Given the description of an element on the screen output the (x, y) to click on. 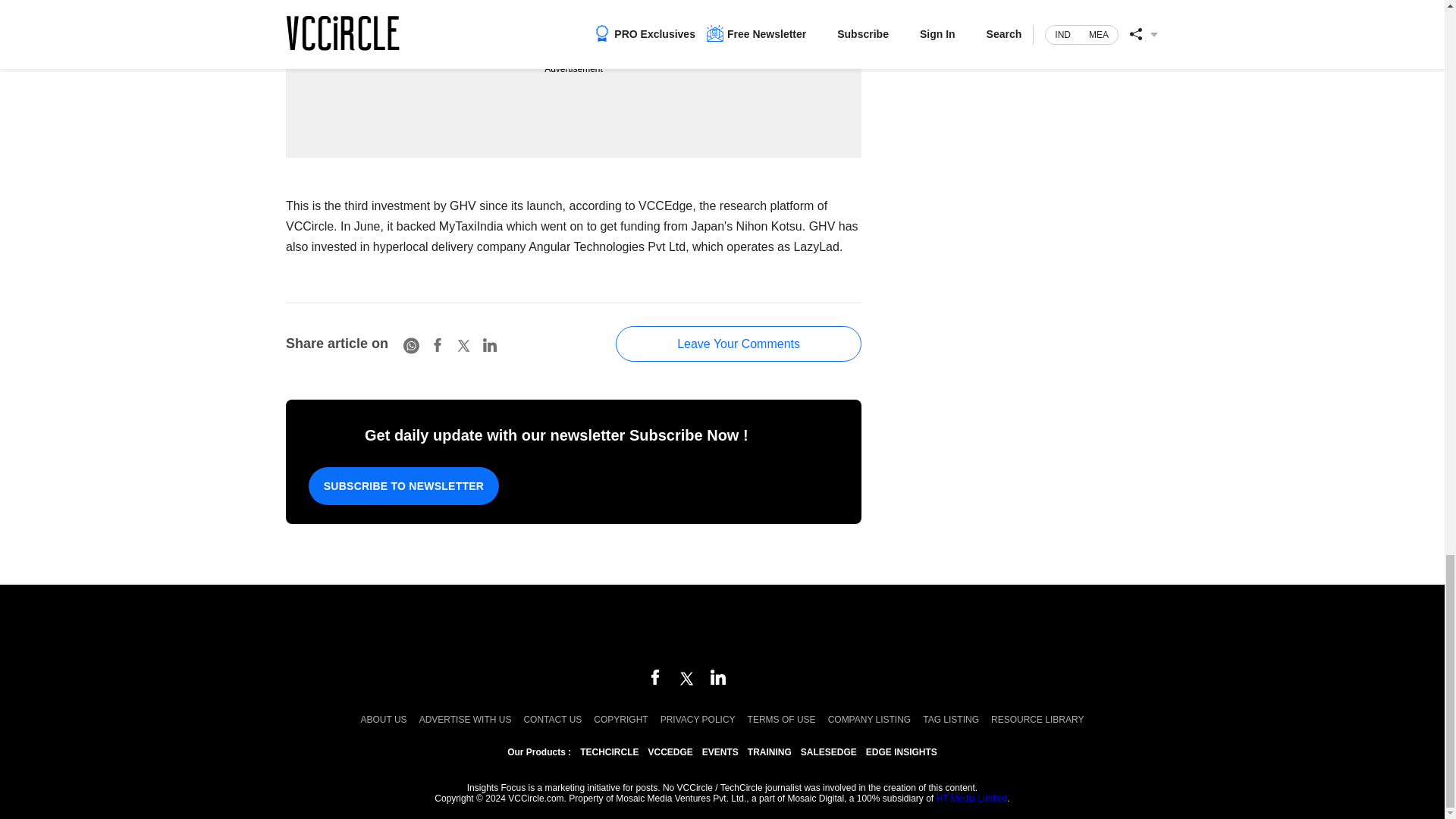
Leave Your Comments (738, 343)
SUBSCRIBE TO NEWSLETTER (403, 485)
Mosaic Digital (721, 628)
